Given the description of an element on the screen output the (x, y) to click on. 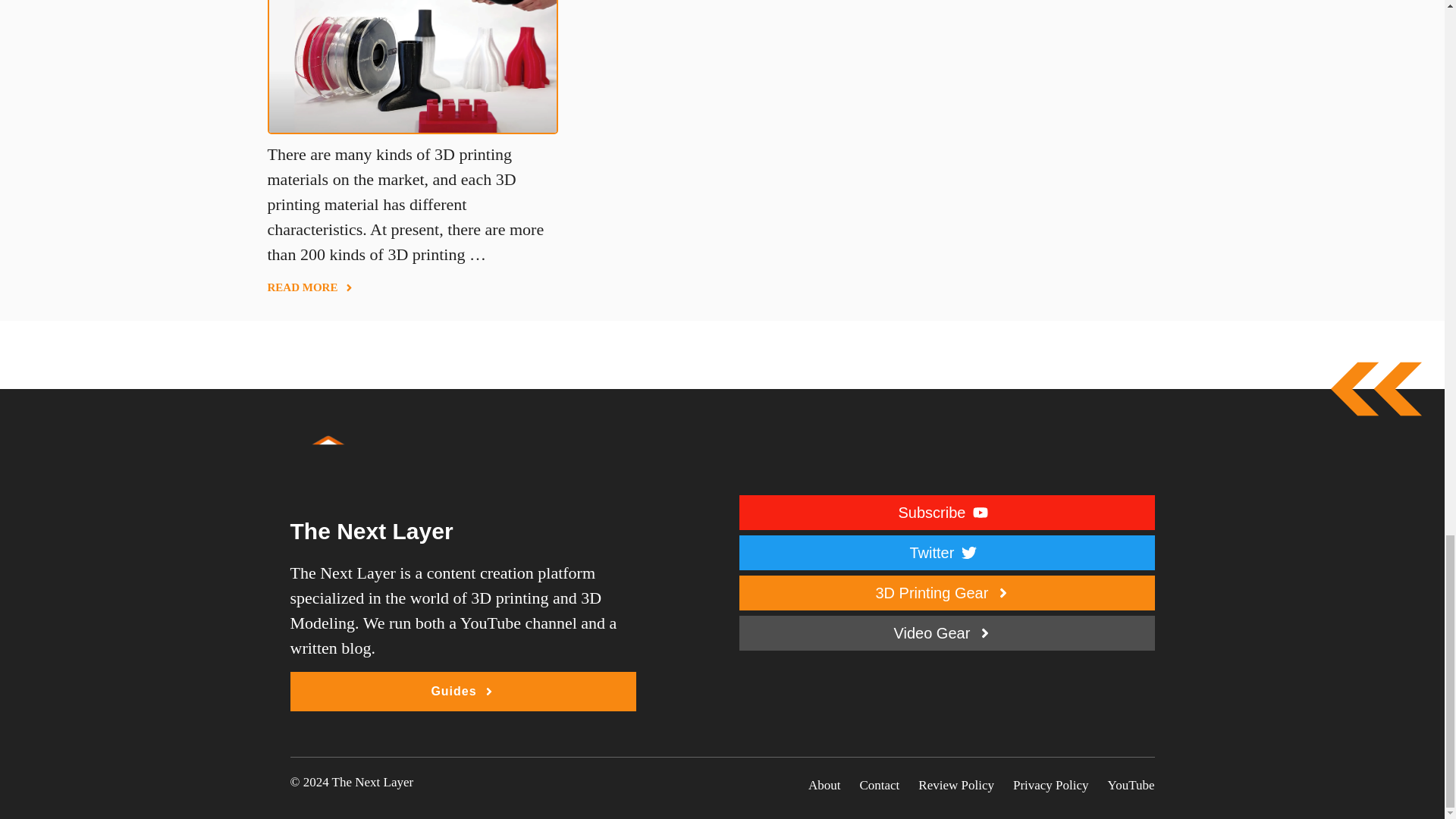
READ MORE (309, 287)
Subscribe (946, 512)
Contact (879, 785)
Guides (461, 691)
Video Gear (946, 632)
About (824, 785)
3D Printing Gear (946, 592)
Twitter (946, 552)
